Given the description of an element on the screen output the (x, y) to click on. 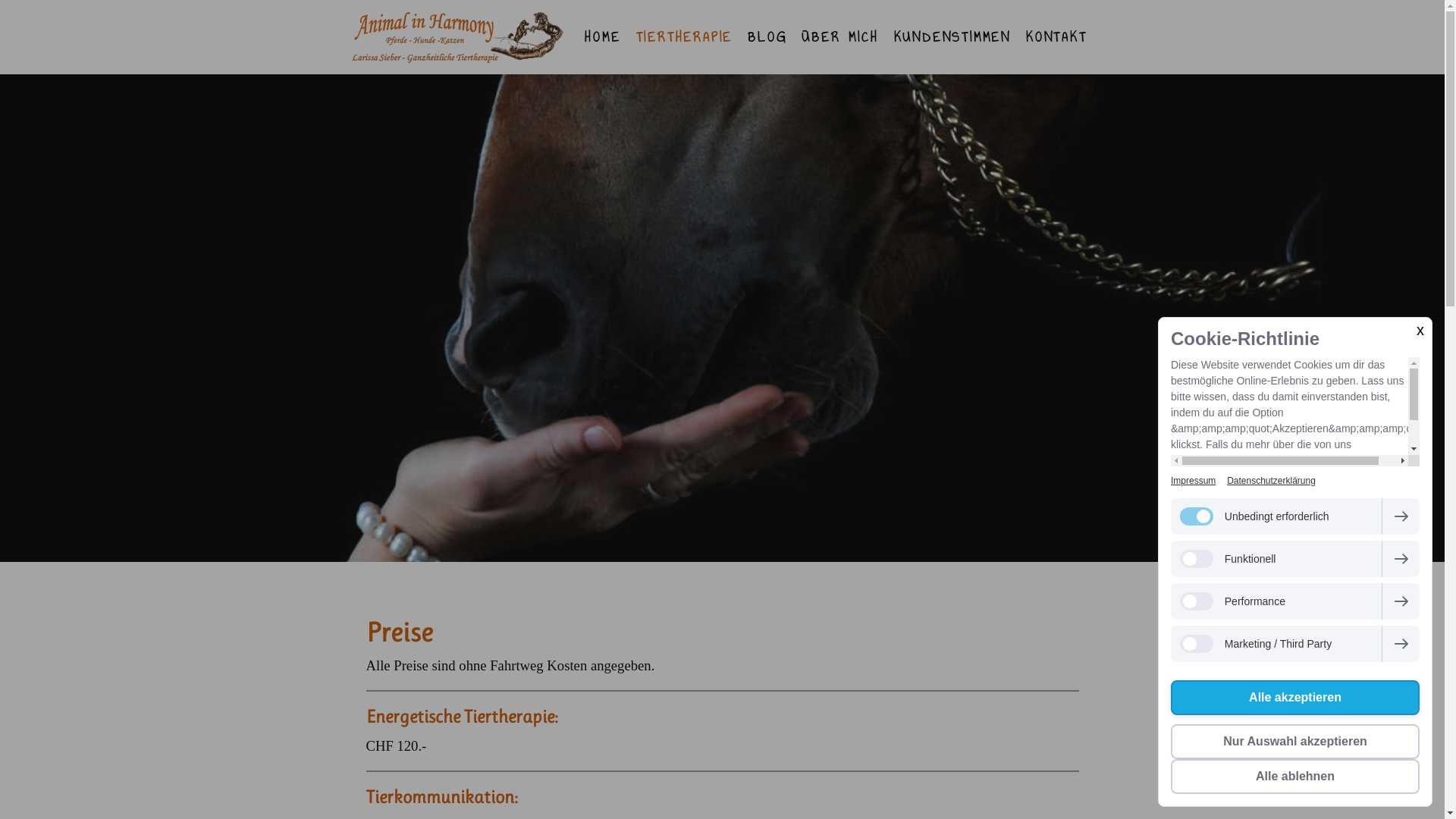
TIERTHERAPIE Element type: text (684, 37)
HOME Element type: text (602, 37)
KONTAKT Element type: text (1056, 37)
Tiertherapie Element type: text (486, 542)
Nur Auswahl akzeptieren Element type: text (1294, 741)
Impressum Element type: text (1192, 480)
Alle akzeptieren Element type: text (1294, 697)
KUNDENSTIMMEN Element type: text (952, 37)
BLOG Element type: text (766, 37)
Alle ablehnen Element type: text (1294, 776)
Preise Element type: text (557, 542)
